Given the description of an element on the screen output the (x, y) to click on. 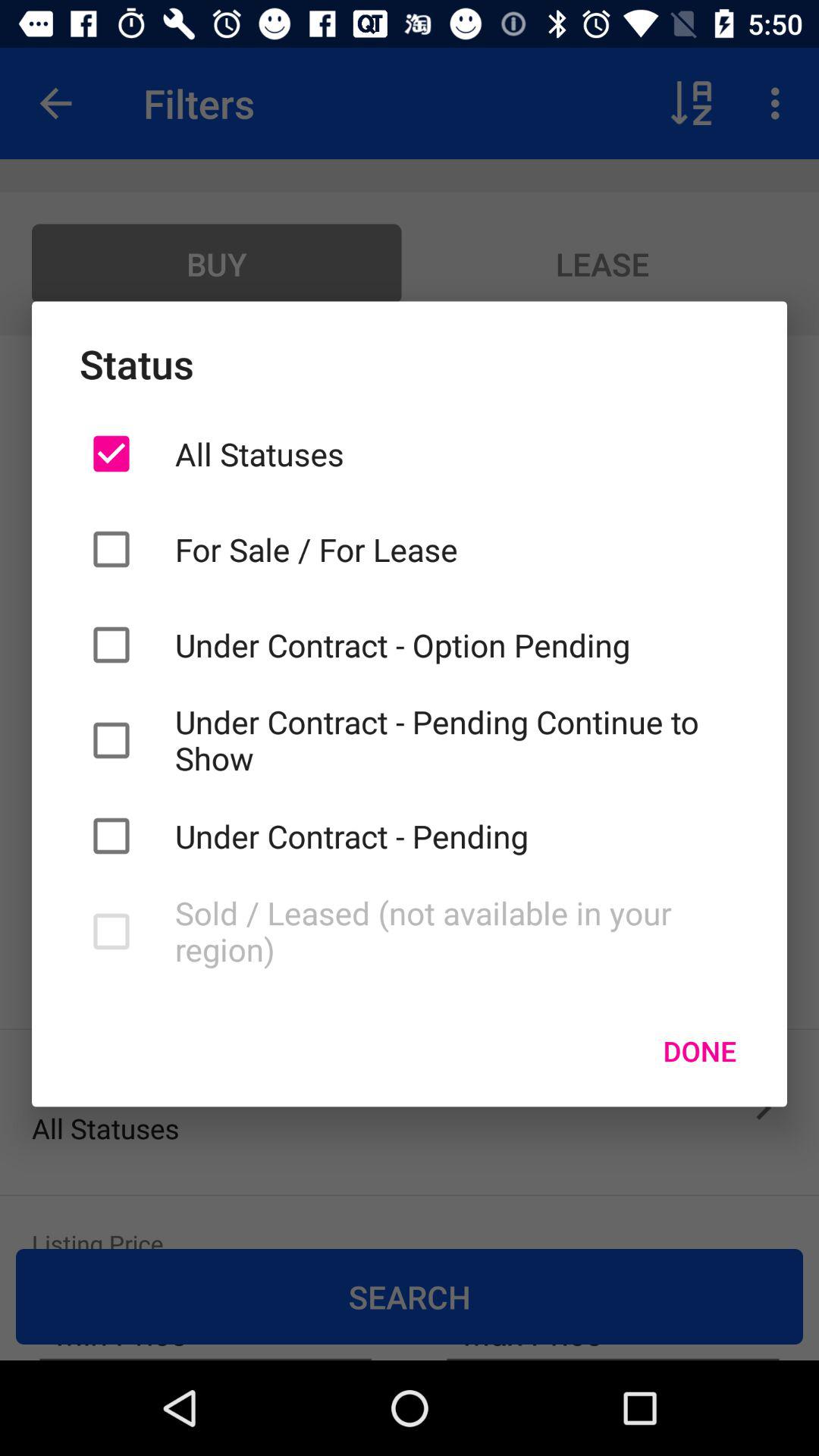
press all statuses (457, 453)
